Given the description of an element on the screen output the (x, y) to click on. 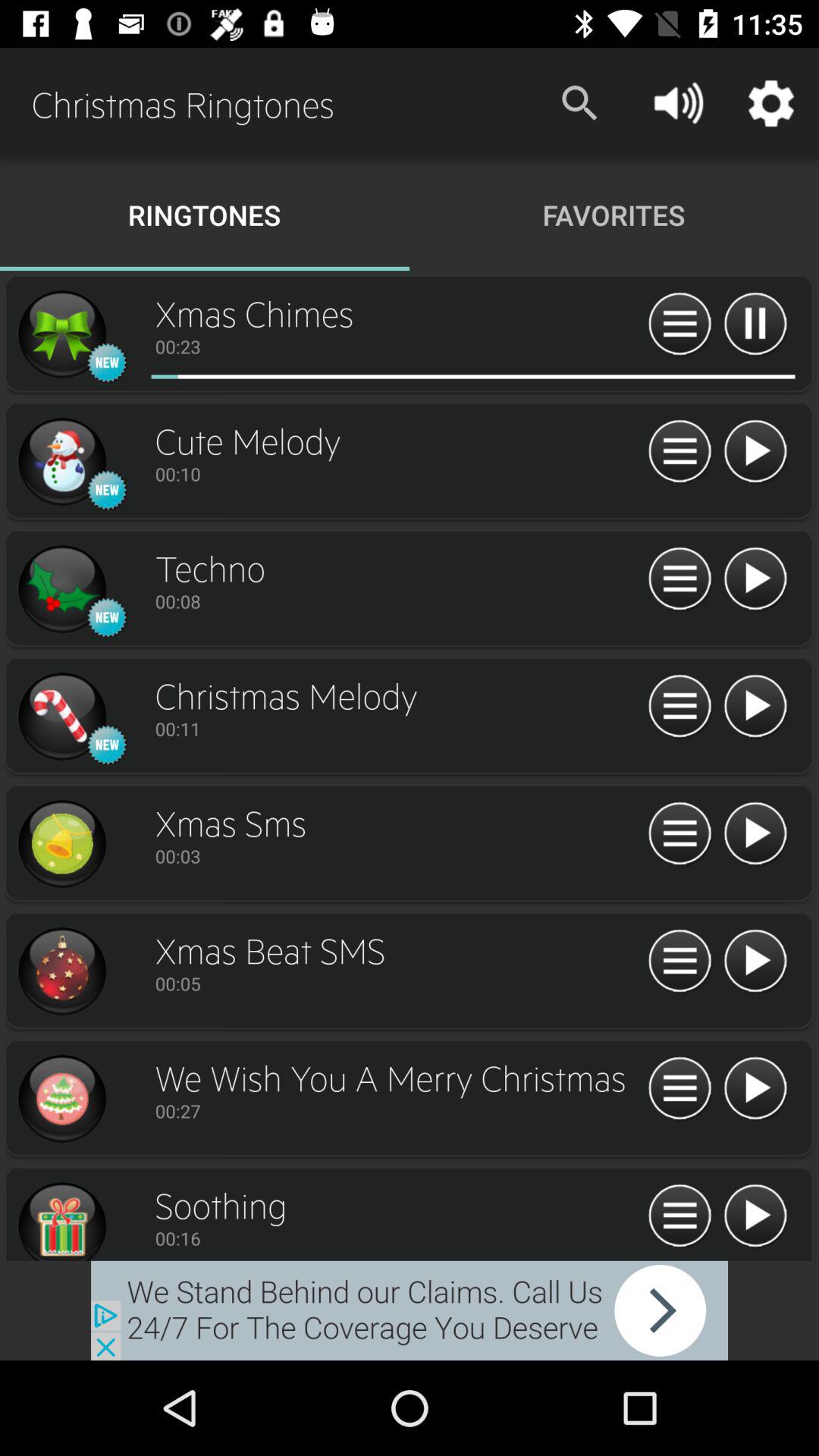
play christmas melody ringtone (755, 706)
